Given the description of an element on the screen output the (x, y) to click on. 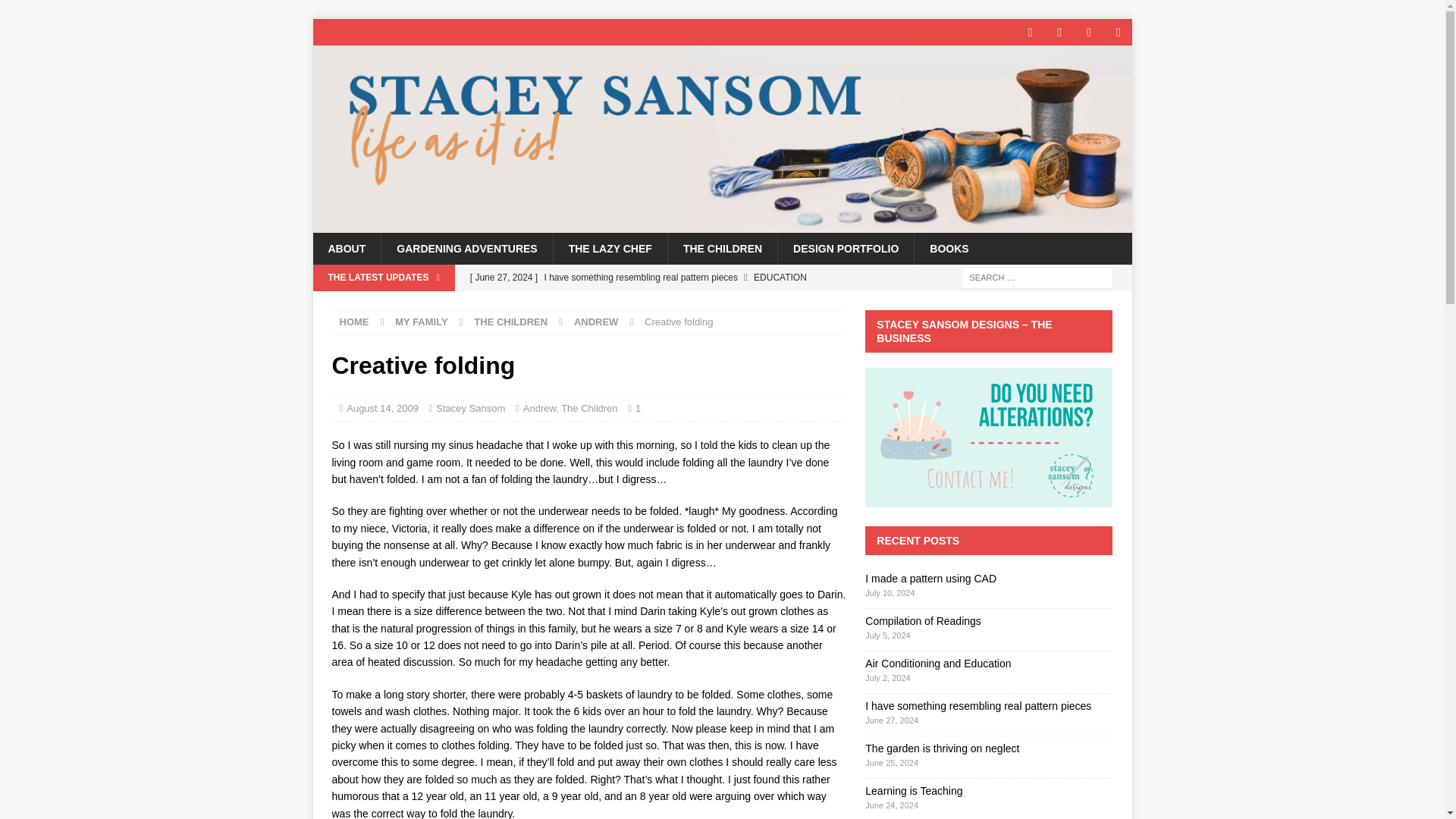
The Children (588, 408)
Stacey Sansom (722, 223)
THE CHILDREN (721, 248)
THE LAZY CHEF (609, 248)
The garden is thriving on neglect (653, 303)
HOME (354, 321)
DESIGN PORTFOLIO (845, 248)
ANDREW (595, 321)
Stacey Sansom (470, 408)
Andrew (539, 408)
BOOKS (949, 248)
August 14, 2009 (382, 408)
MY FAMILY (420, 321)
Search (56, 11)
ABOUT (346, 248)
